Given the description of an element on the screen output the (x, y) to click on. 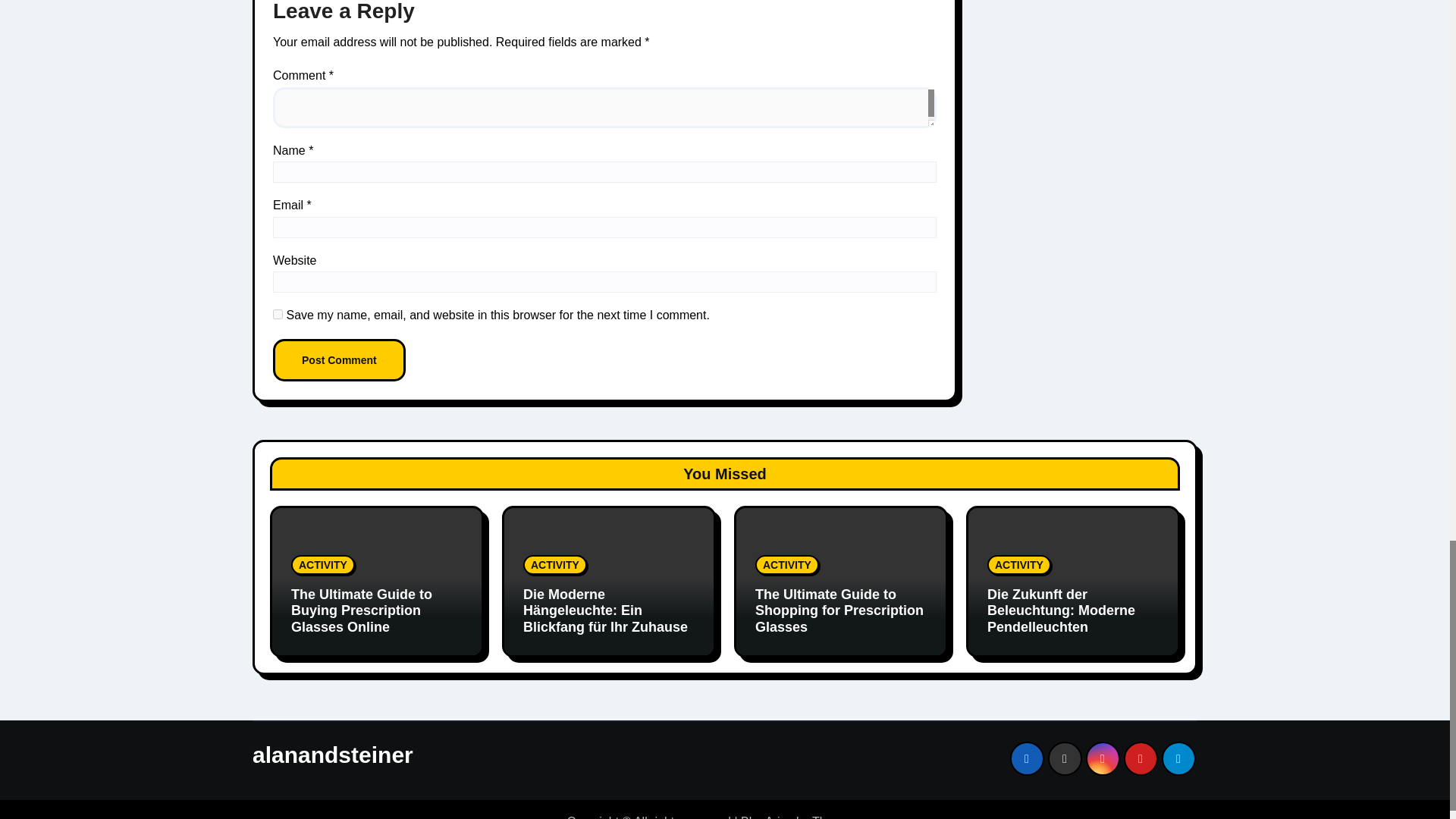
Post Comment (339, 360)
yes (277, 314)
